Given the description of an element on the screen output the (x, y) to click on. 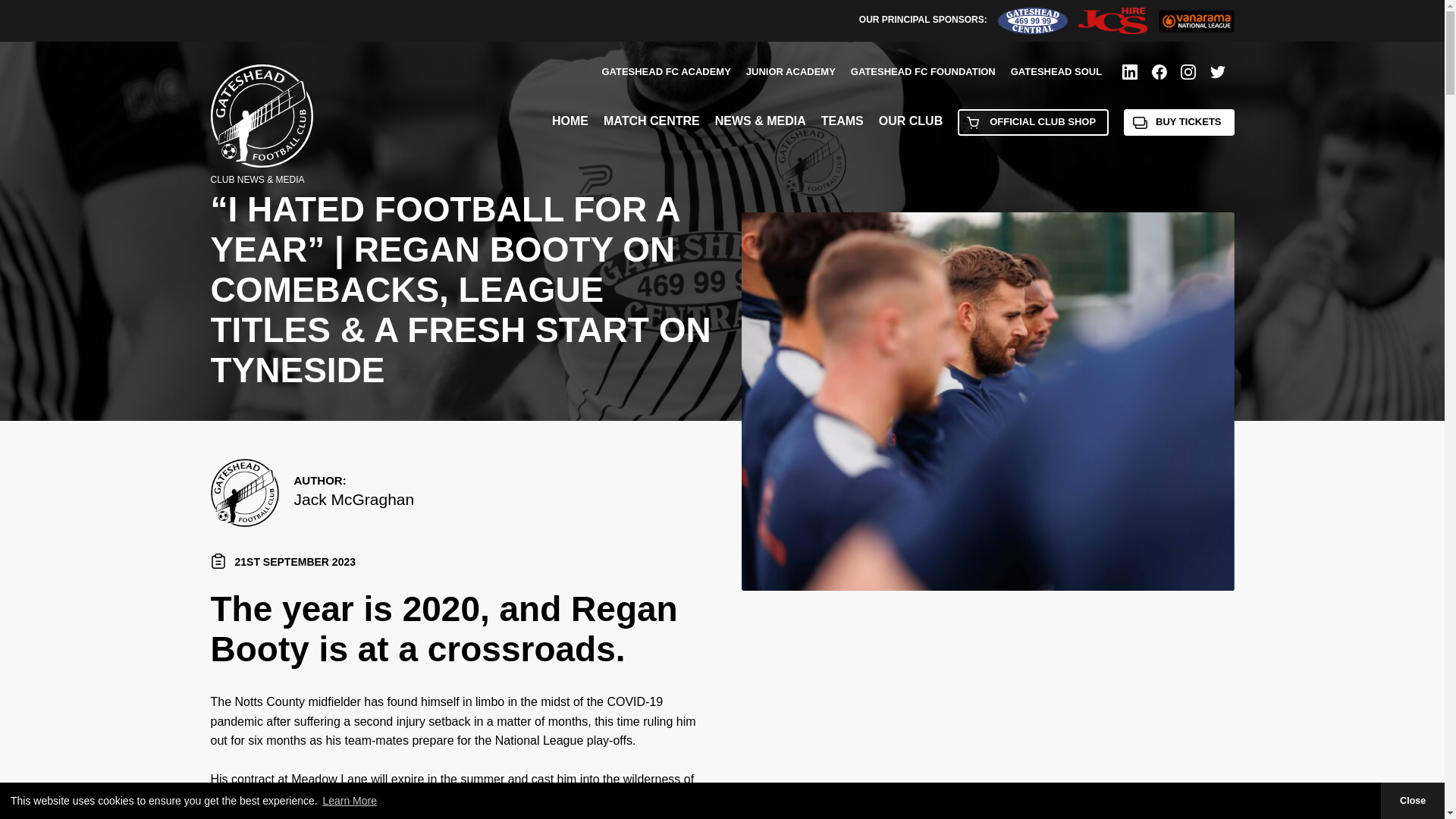
GATESHEAD FC ACADEMY (665, 71)
GATESHEAD SOUL (1056, 71)
OUR CLUB (910, 120)
BUY TICKETS (1178, 121)
JUNIOR ACADEMY (790, 71)
TEAMS (842, 120)
OFFICIAL CLUB SHOP (1033, 121)
HOME (569, 120)
Learn More (349, 800)
MATCH CENTRE (652, 120)
GATESHEAD FC FOUNDATION (922, 71)
